Given the description of an element on the screen output the (x, y) to click on. 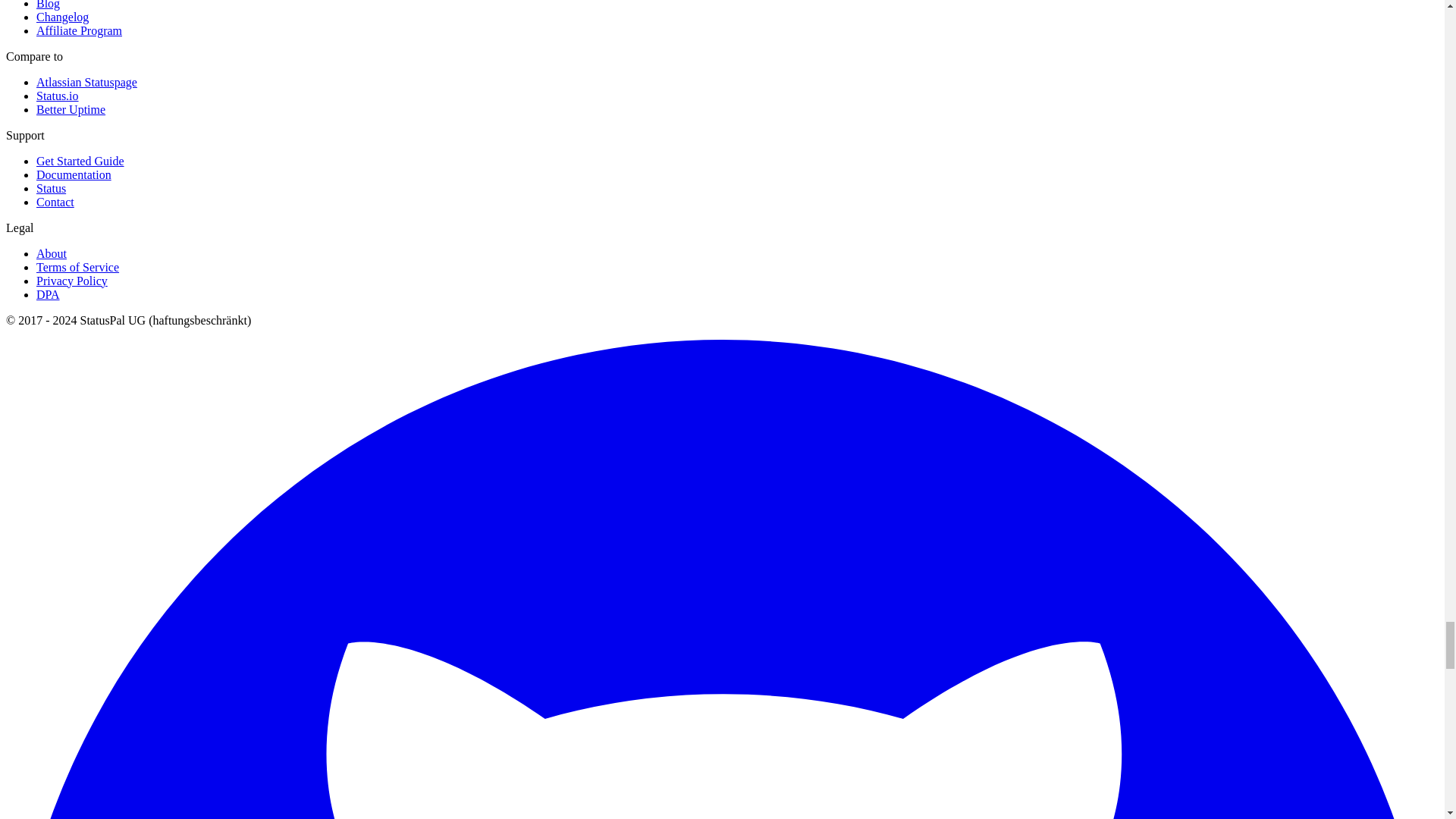
Blog (47, 4)
